Given the description of an element on the screen output the (x, y) to click on. 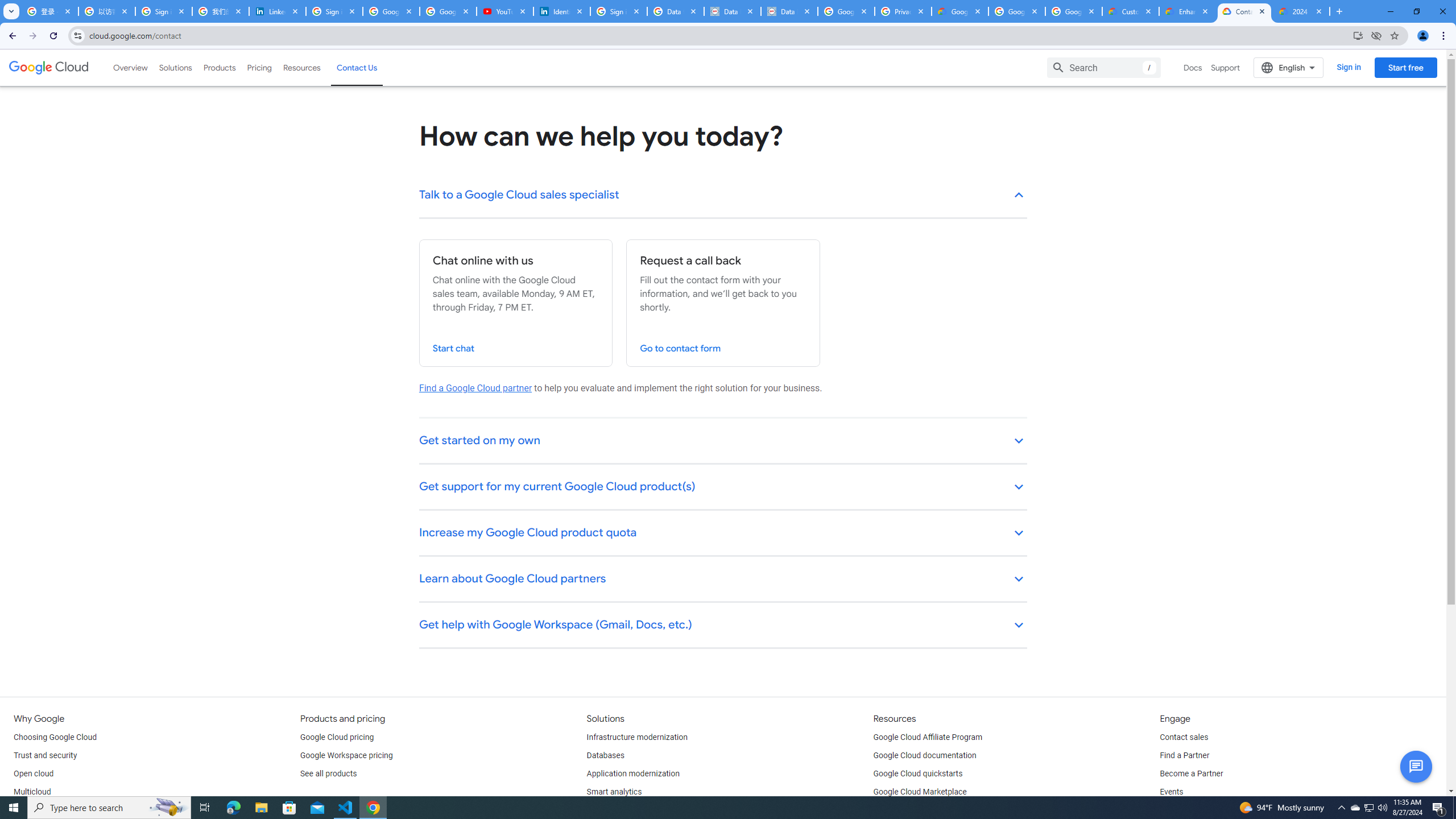
Data Privacy Framework (731, 11)
Data Privacy Framework (788, 11)
Pricing (259, 67)
Events (1170, 791)
Google Cloud documentation (924, 755)
See all products (327, 773)
